Given the description of an element on the screen output the (x, y) to click on. 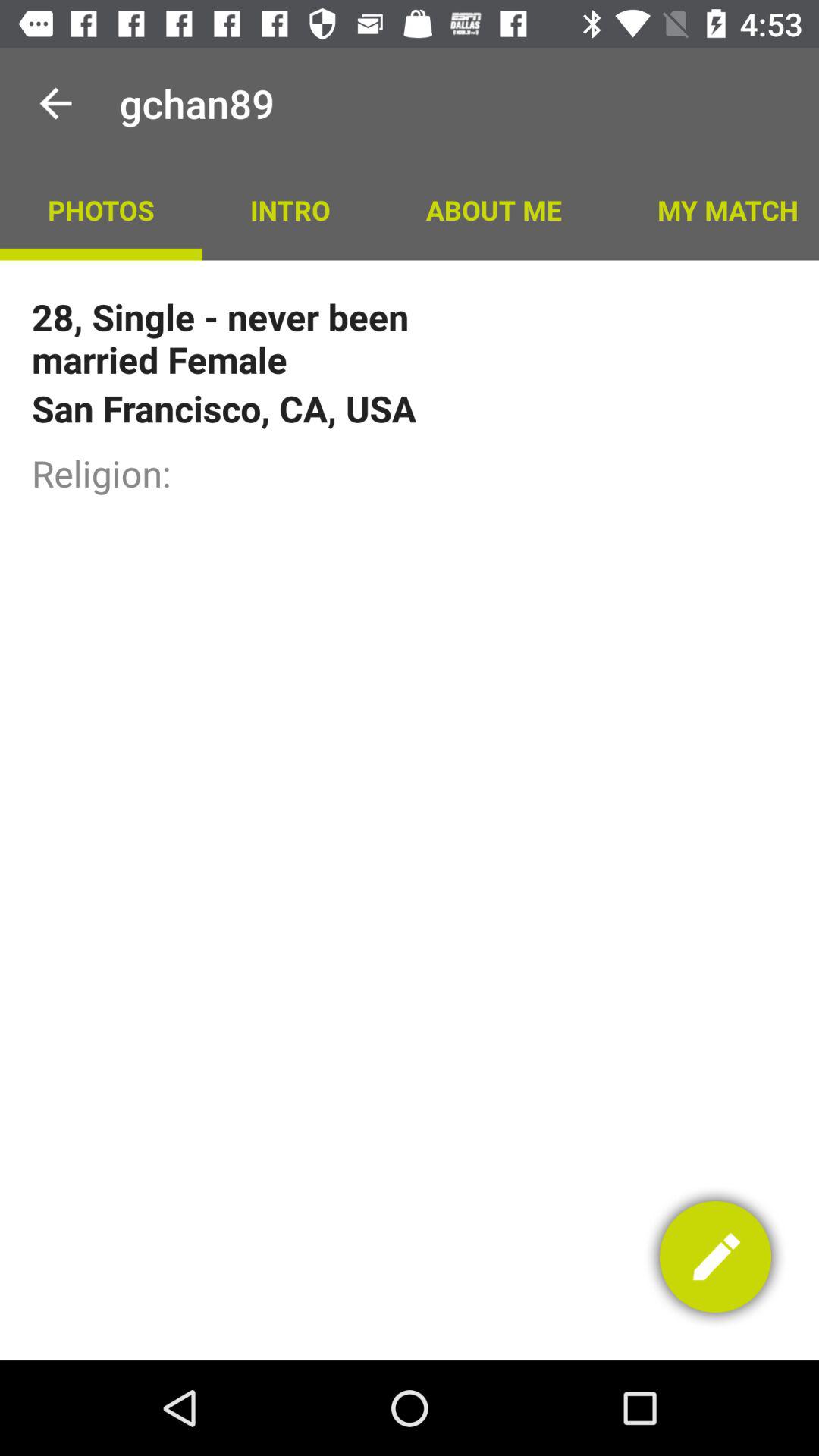
choose icon to the left of the my match item (493, 209)
